Given the description of an element on the screen output the (x, y) to click on. 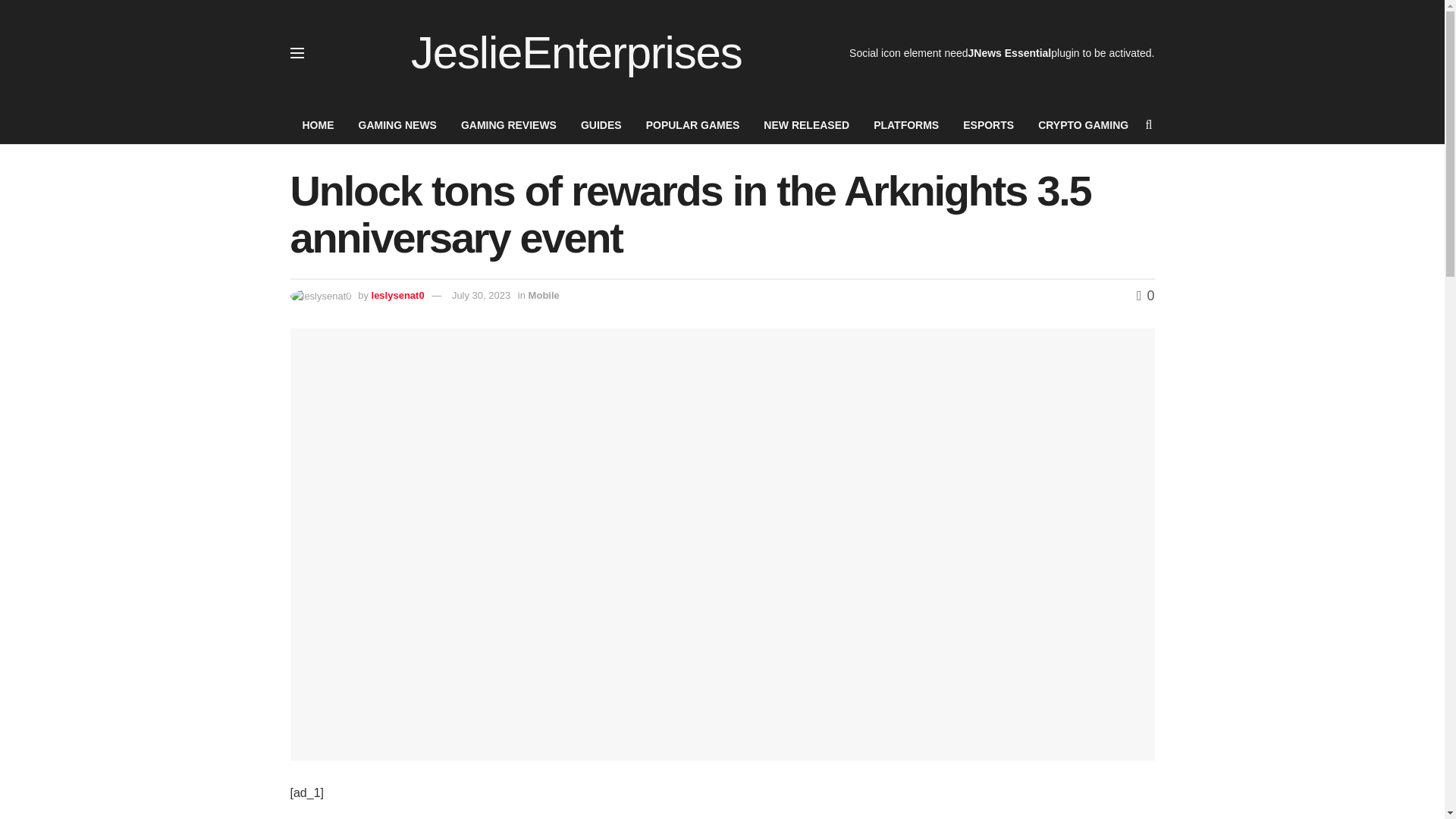
GUIDES (601, 125)
JeslieEnterprises (575, 53)
0 (1145, 295)
leslysenat0 (398, 295)
NEW RELEASED (806, 125)
ESPORTS (988, 125)
July 30, 2023 (481, 295)
GAMING NEWS (397, 125)
Mobile (543, 295)
PLATFORMS (905, 125)
